Given the description of an element on the screen output the (x, y) to click on. 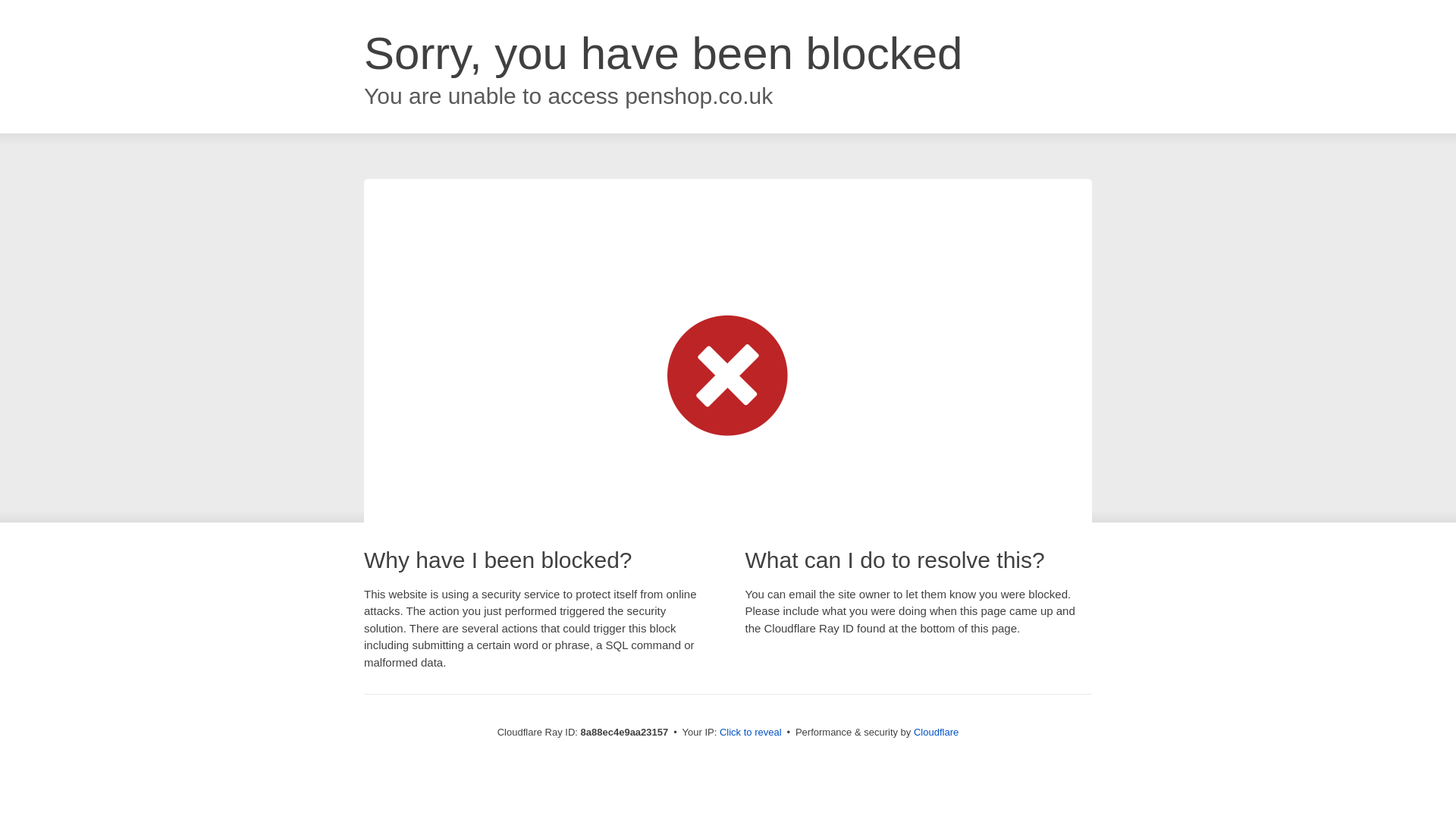
Click to reveal (750, 732)
Cloudflare (936, 731)
